Given the description of an element on the screen output the (x, y) to click on. 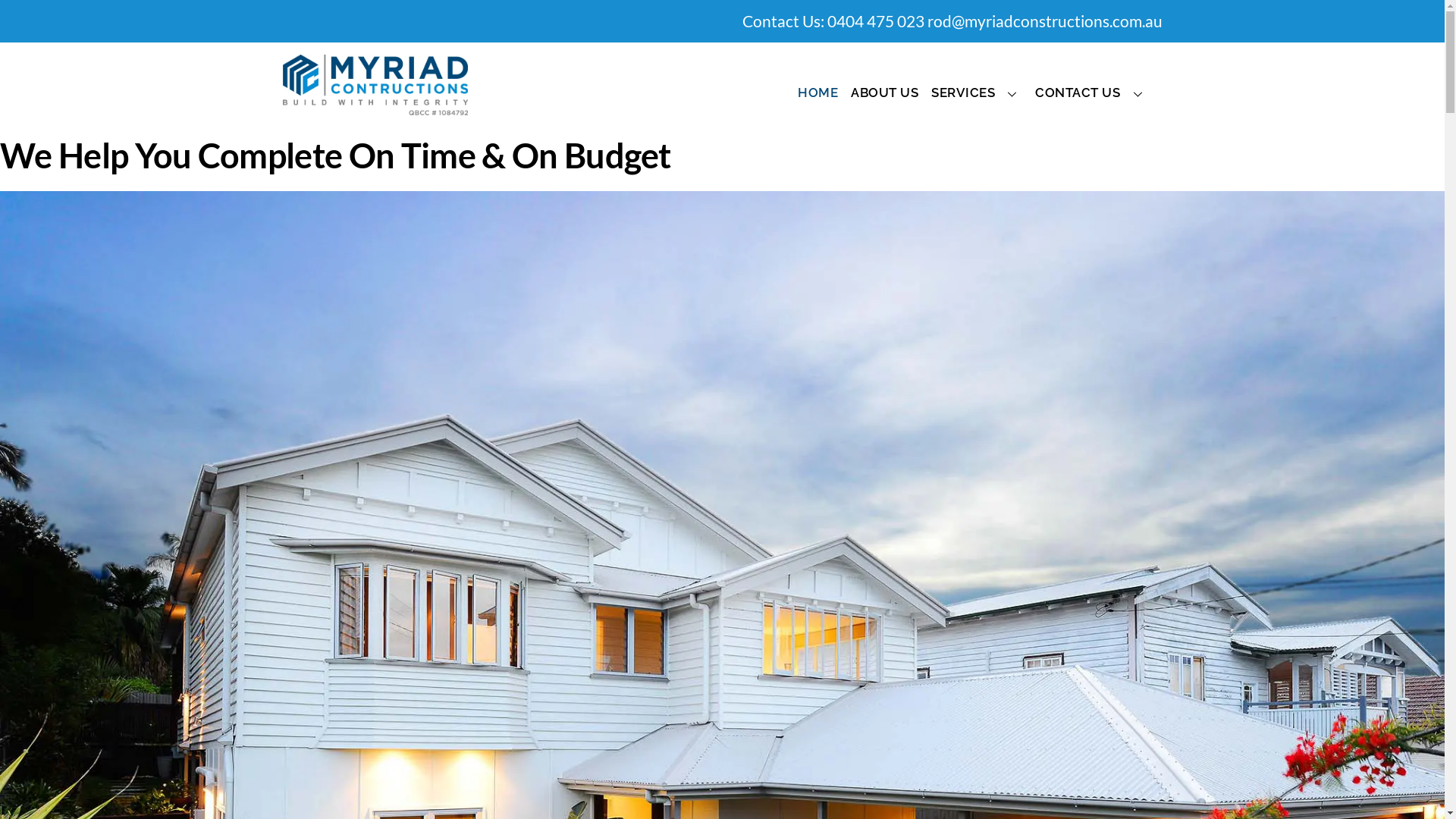
HOME Element type: text (817, 93)
SERVICES Element type: text (977, 93)
0404 475 023 Element type: text (874, 20)
ABOUT US Element type: text (884, 93)
MYRIAD-CONTRUCTIONS_200 Element type: hover (374, 84)
rod@myriadconstructions.com.au Element type: text (1043, 20)
CONTACT US Element type: text (1091, 93)
